Given the description of an element on the screen output the (x, y) to click on. 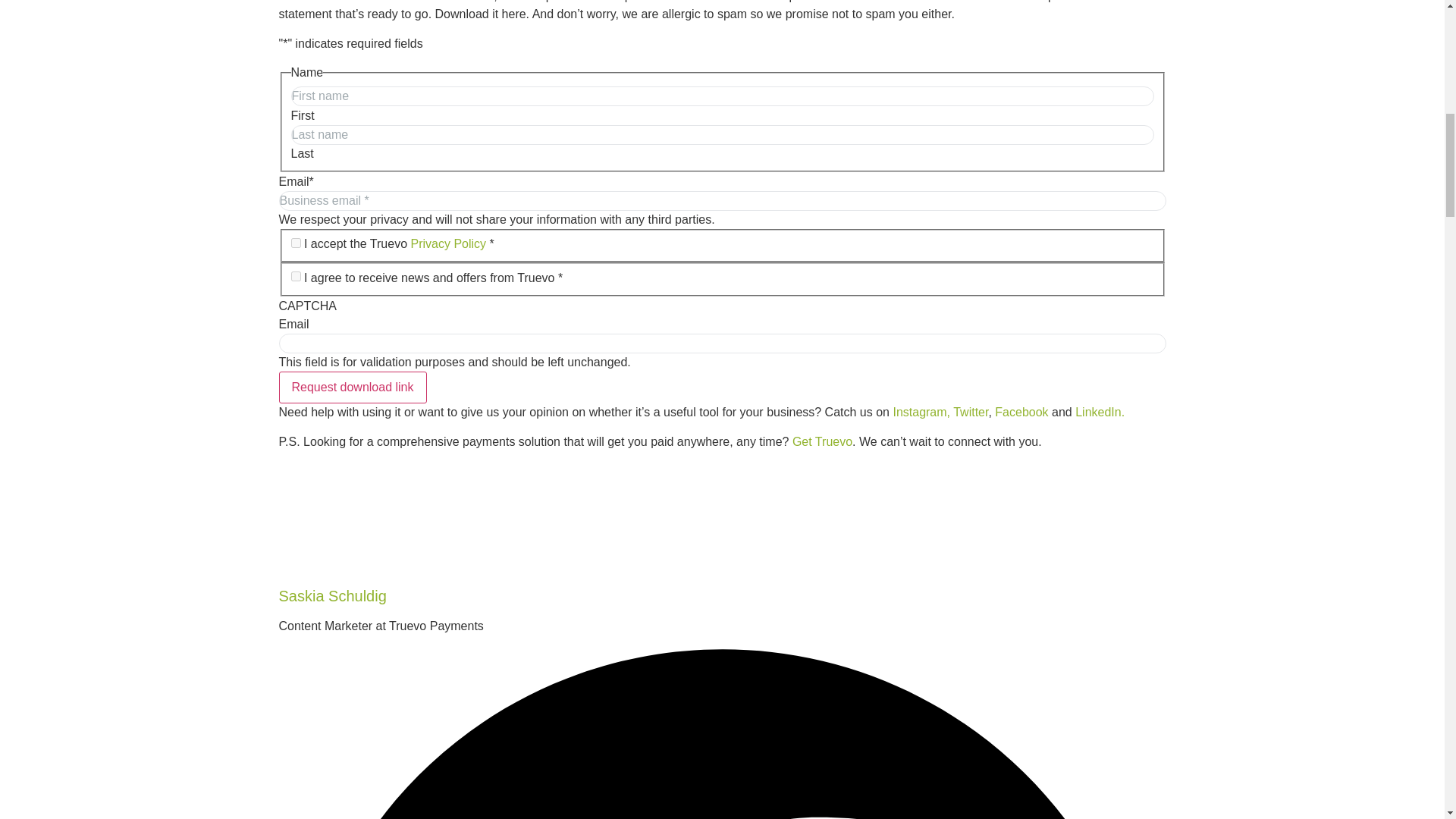
1 (296, 276)
1 (296, 243)
Request download link (352, 387)
